Given the description of an element on the screen output the (x, y) to click on. 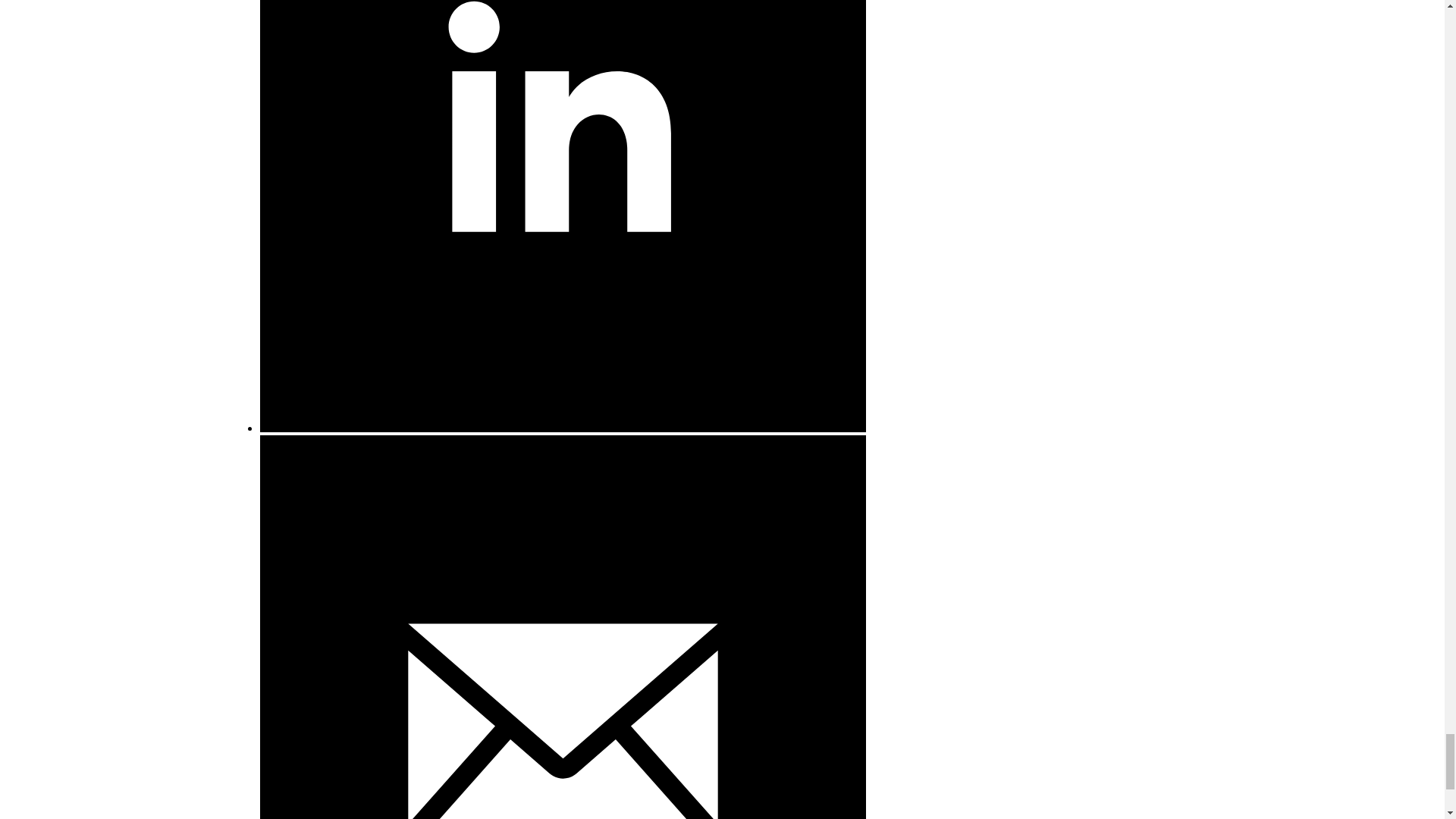
linkedIn (561, 427)
